Given the description of an element on the screen output the (x, y) to click on. 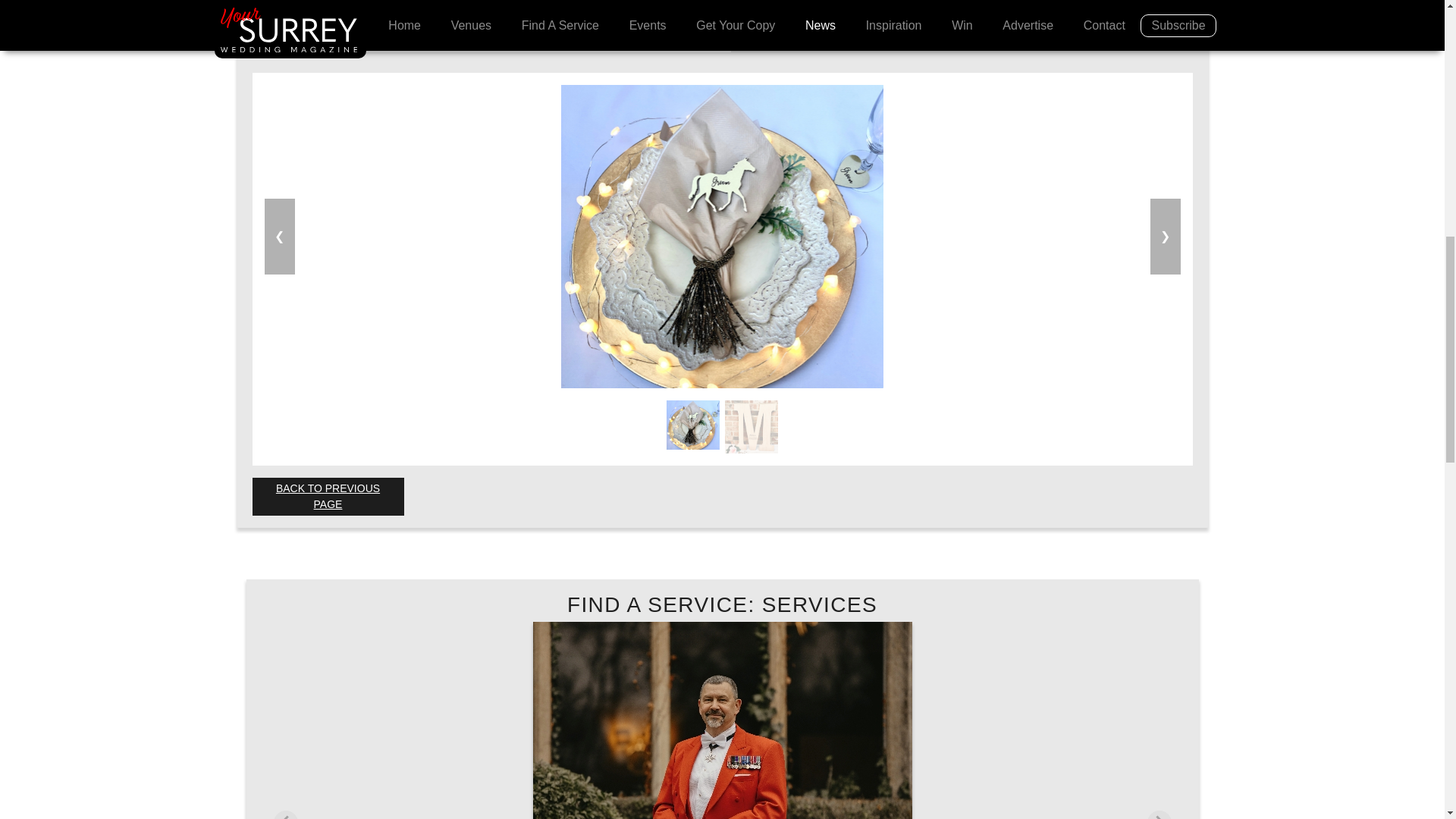
Back to previous page (327, 496)
BACK TO PREVIOUS PAGE (327, 496)
FIND A SERVICE: SERVICES (722, 604)
